Given the description of an element on the screen output the (x, y) to click on. 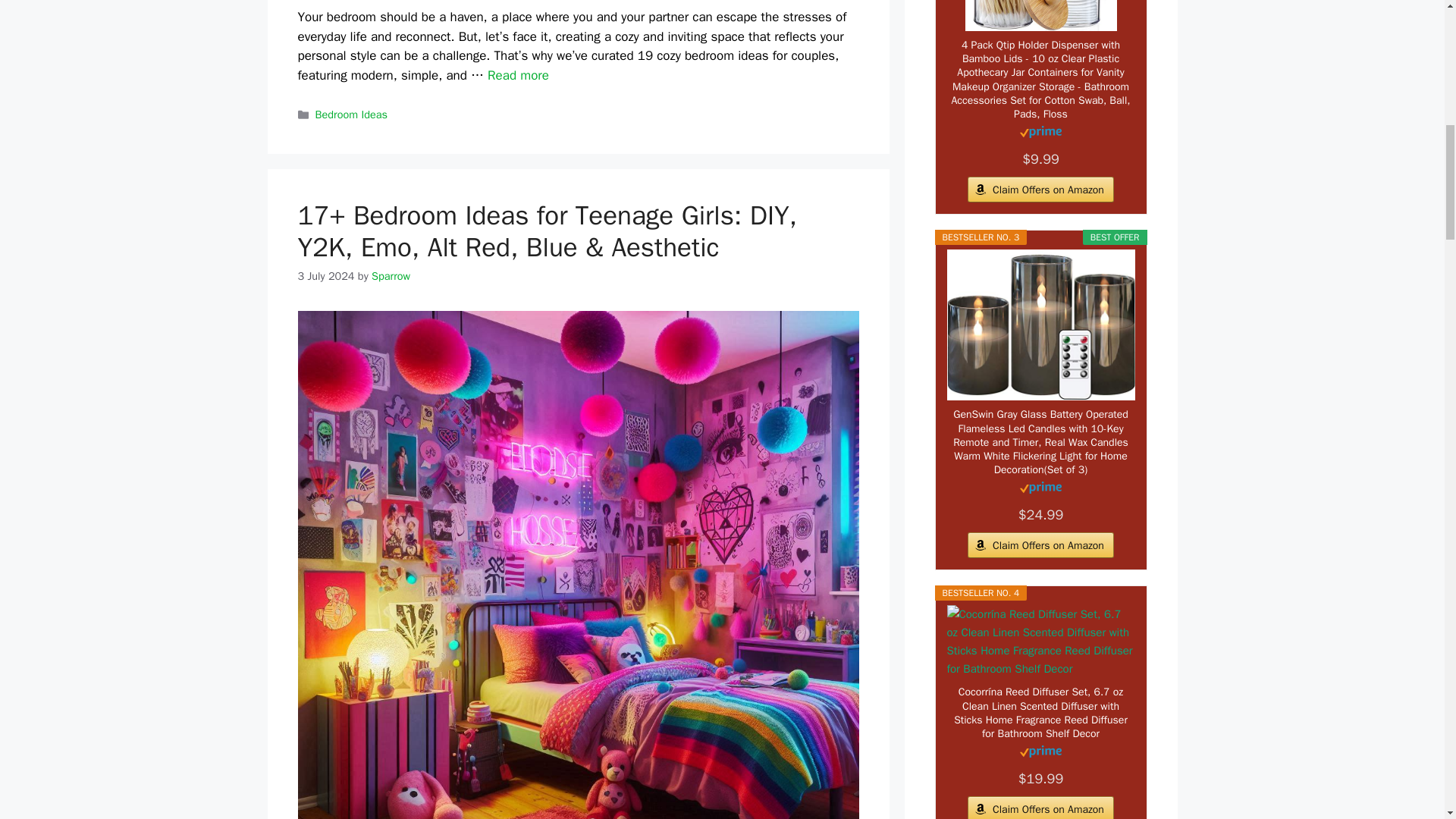
Read more (517, 75)
Bedroom Ideas (351, 114)
View all posts by Sparrow (390, 275)
Sparrow (390, 275)
